Given the description of an element on the screen output the (x, y) to click on. 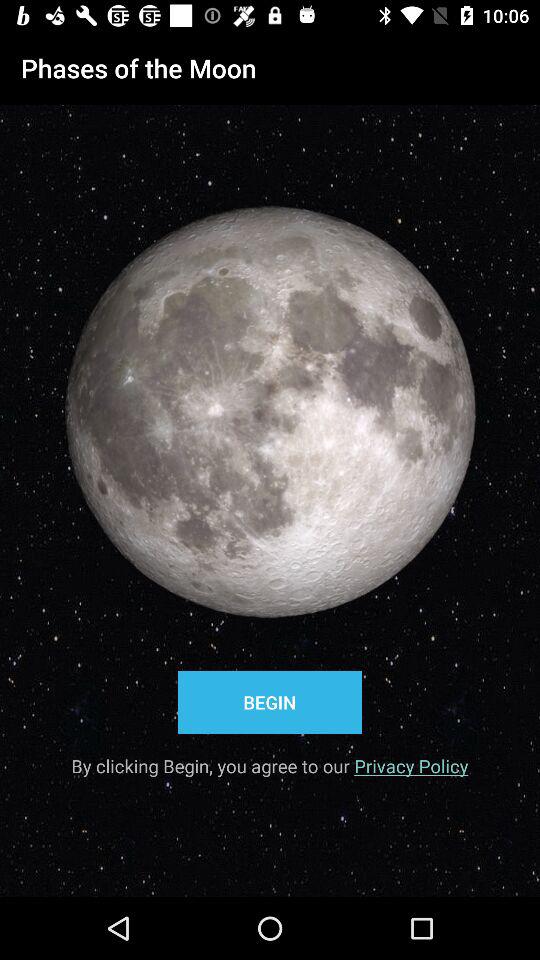
turn off the icon below begin icon (269, 759)
